Given the description of an element on the screen output the (x, y) to click on. 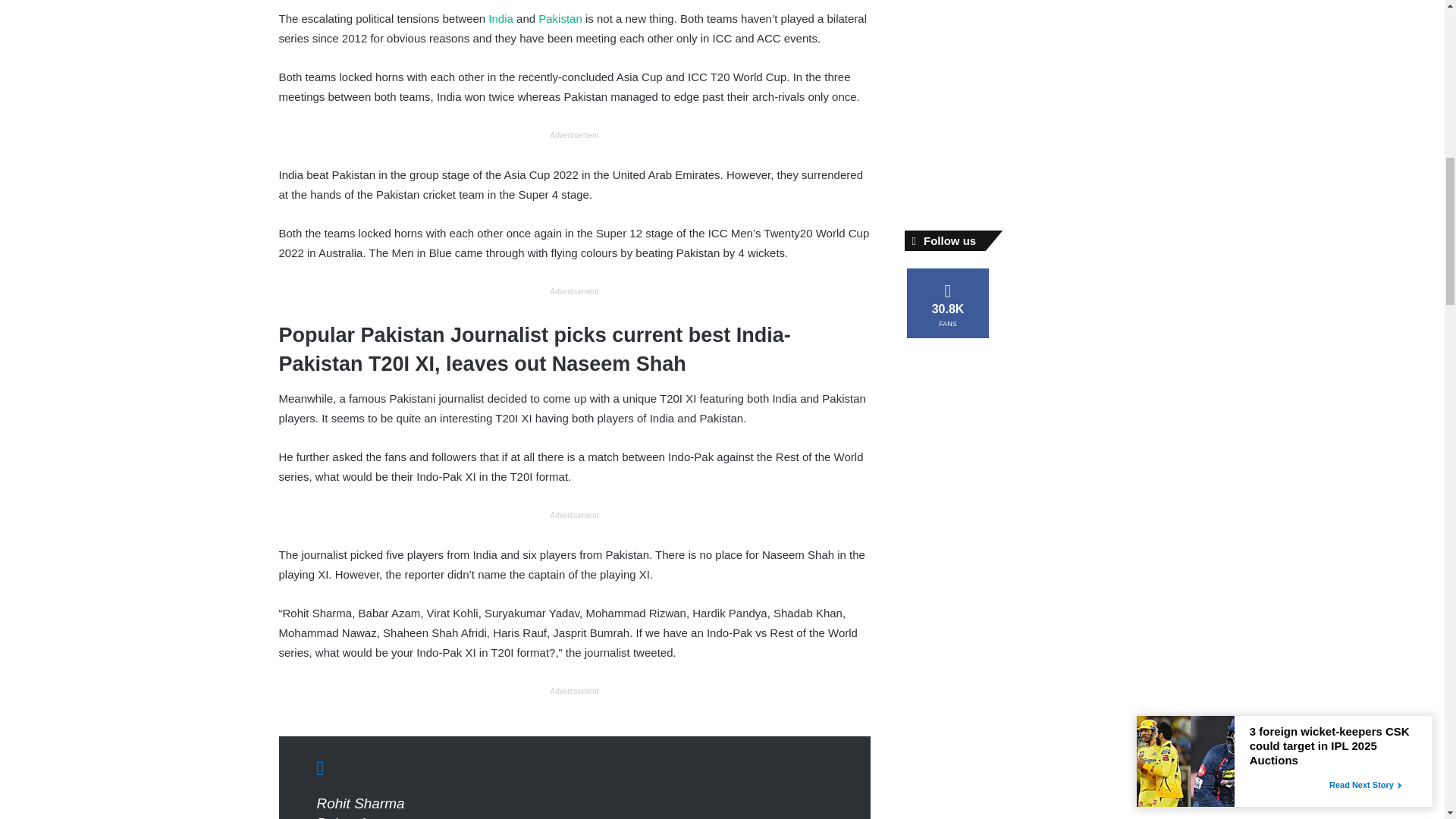
Pakistan (560, 18)
India (500, 18)
